Given the description of an element on the screen output the (x, y) to click on. 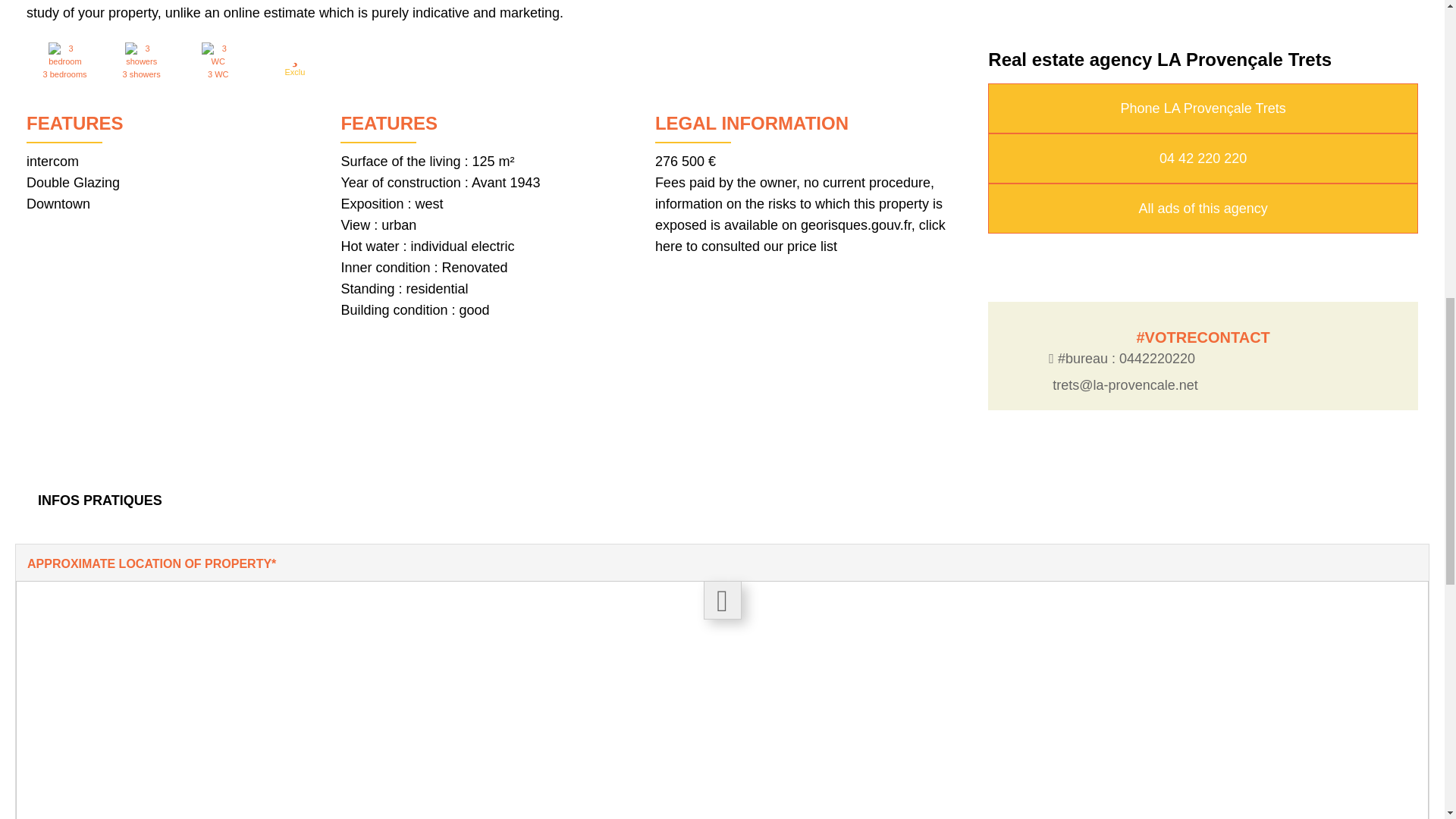
3 bedrooms (64, 54)
3 showers (141, 54)
3 WC (218, 54)
